Given the description of an element on the screen output the (x, y) to click on. 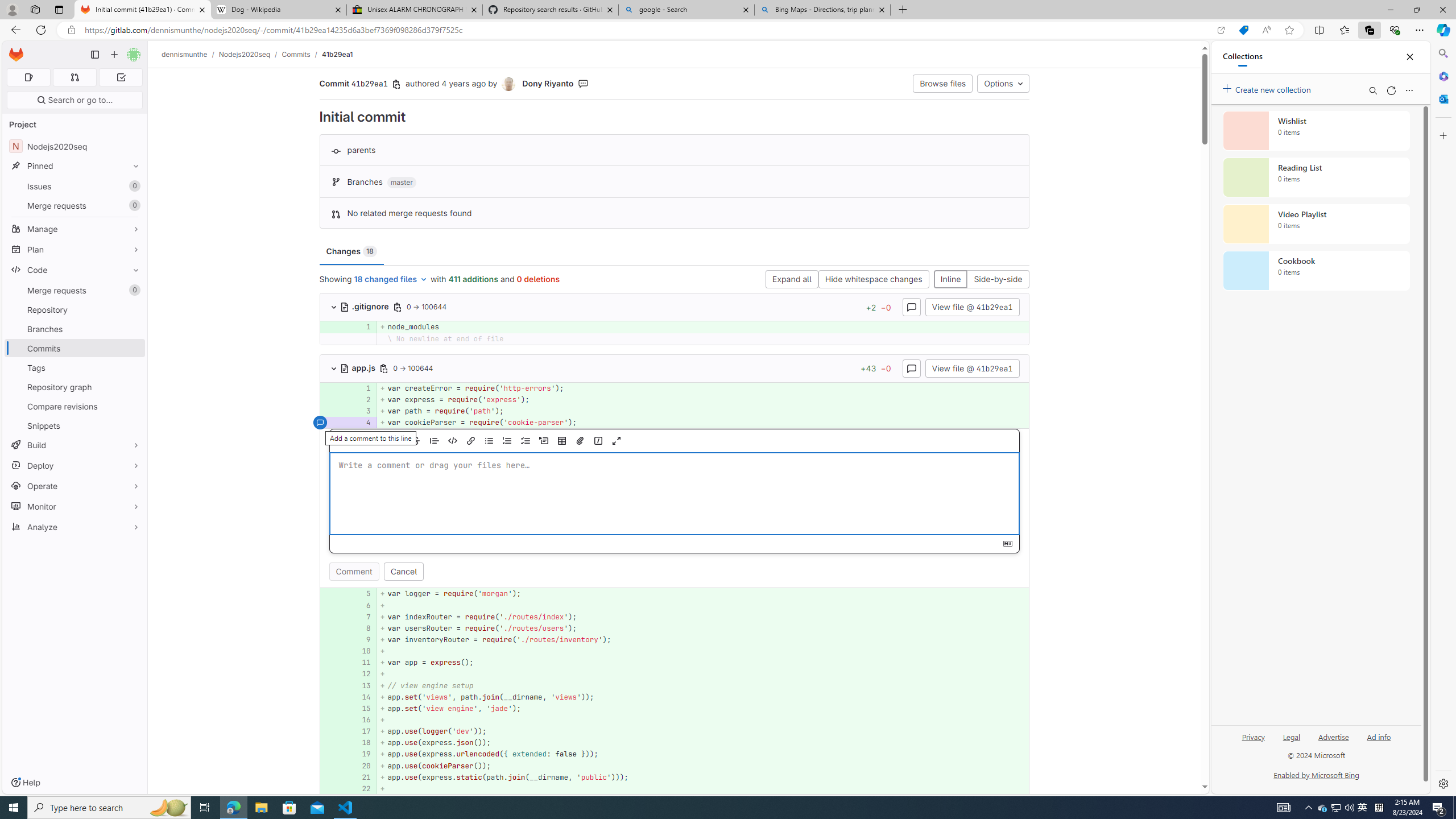
Dog - Wikipedia (277, 9)
AutomationID: 4a68969ef8e858229267b842dedf42ab5dde4d50_0_11 (674, 662)
Copy file path (384, 368)
18 (362, 743)
15 (360, 708)
Branches (74, 328)
N Nodejs2020seq (74, 145)
AutomationID: 4a68969ef8e858229267b842dedf42ab5dde4d50_0_18 (674, 743)
6 (362, 605)
